Given the description of an element on the screen output the (x, y) to click on. 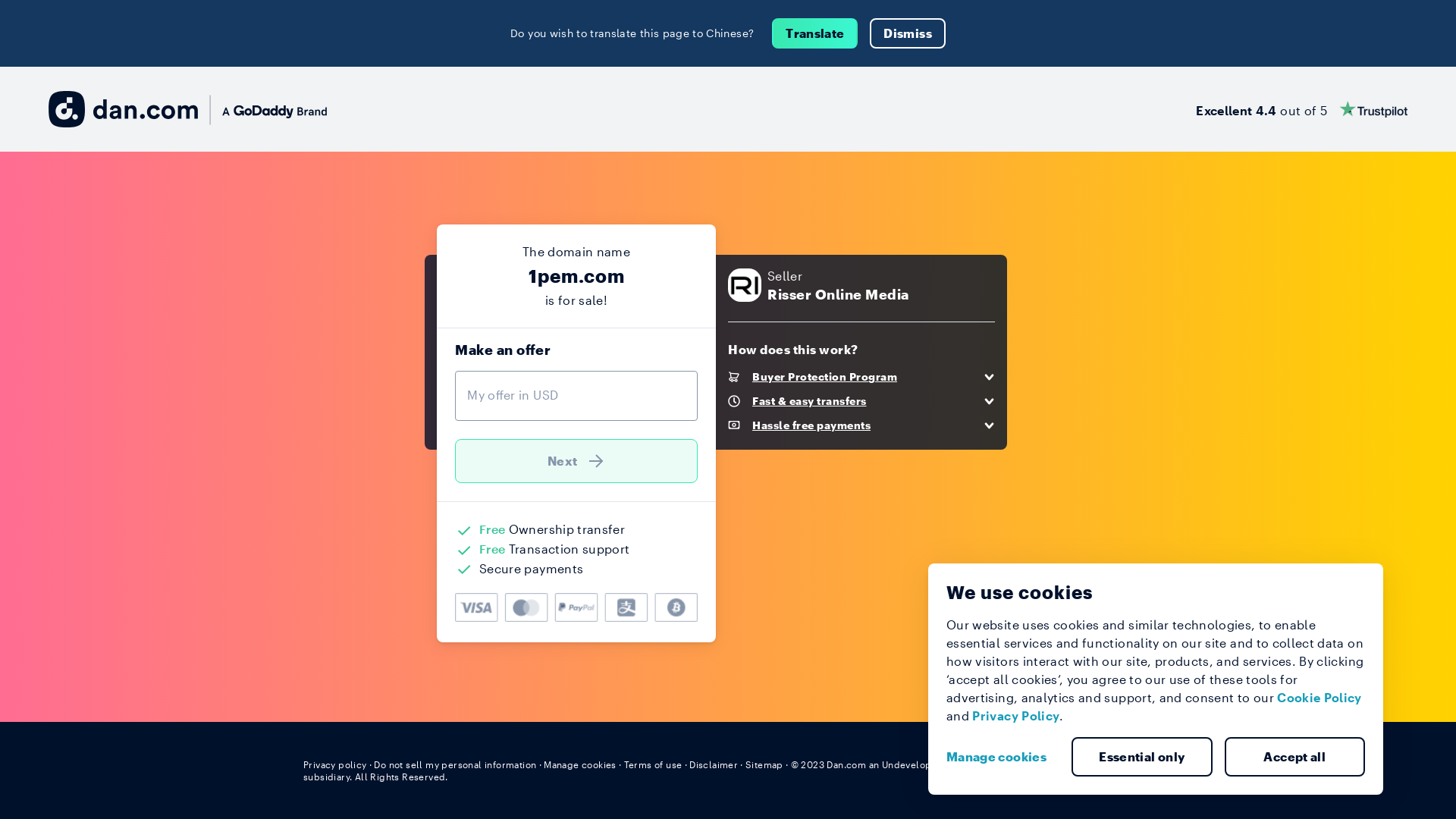
Do not sell my personal information Element type: text (454, 764)
Privacy policy Element type: text (335, 764)
Accept all Element type: text (1294, 756)
Terms of use Element type: text (653, 764)
Cookie Policy Element type: text (1319, 697)
Next
) Element type: text (576, 461)
Dismiss Element type: text (906, 33)
Translate Element type: text (814, 33)
Manage cookies Element type: text (1002, 756)
Sitemap Element type: text (764, 764)
Essential only Element type: text (1141, 756)
Privacy Policy Element type: text (1015, 715)
English Element type: text (1124, 764)
Disclaimer Element type: text (713, 764)
Excellent 4.4 out of 5 Element type: text (1301, 109)
Manage cookies Element type: text (579, 764)
